Given the description of an element on the screen output the (x, y) to click on. 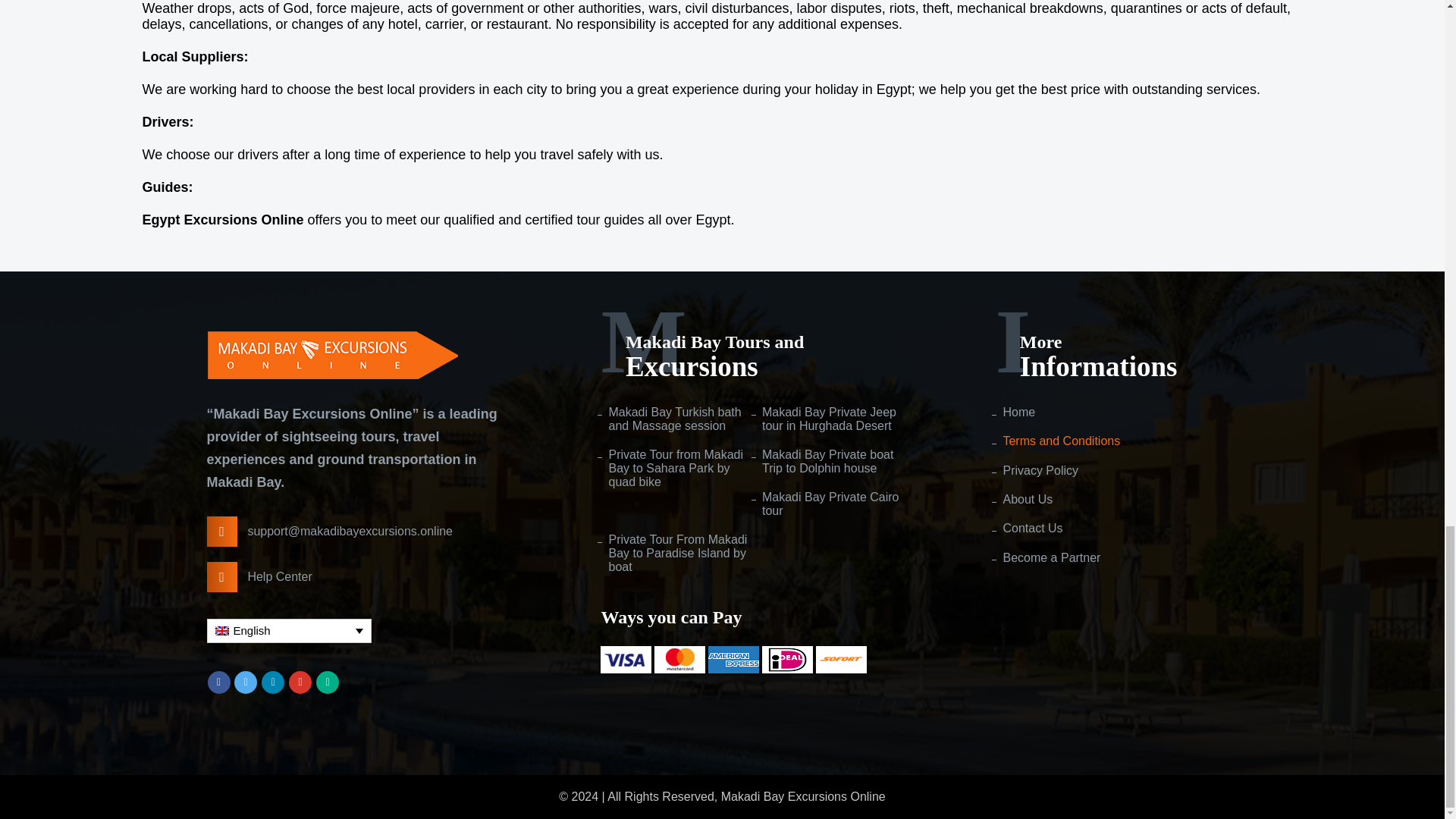
Privacy Policy (1036, 470)
English (288, 630)
Private Tour from Makadi Bay to Sahara Park by quad bike (676, 467)
Makadi Bay Private Cairo tour (830, 503)
Makadi Bay Turkish bath and Massage session (676, 419)
Help Center (362, 576)
Contact Us (1028, 528)
Makadi Bay Private boat Trip to Dolphin house (830, 461)
About Us (1023, 499)
Become a Partner (1047, 558)
Terms and Conditions (1056, 440)
Home (1014, 412)
Makadi Bay Private Jeep tour in Hurghada Desert (830, 419)
Private Tour From Makadi Bay to Paradise Island by boat (676, 553)
